Given the description of an element on the screen output the (x, y) to click on. 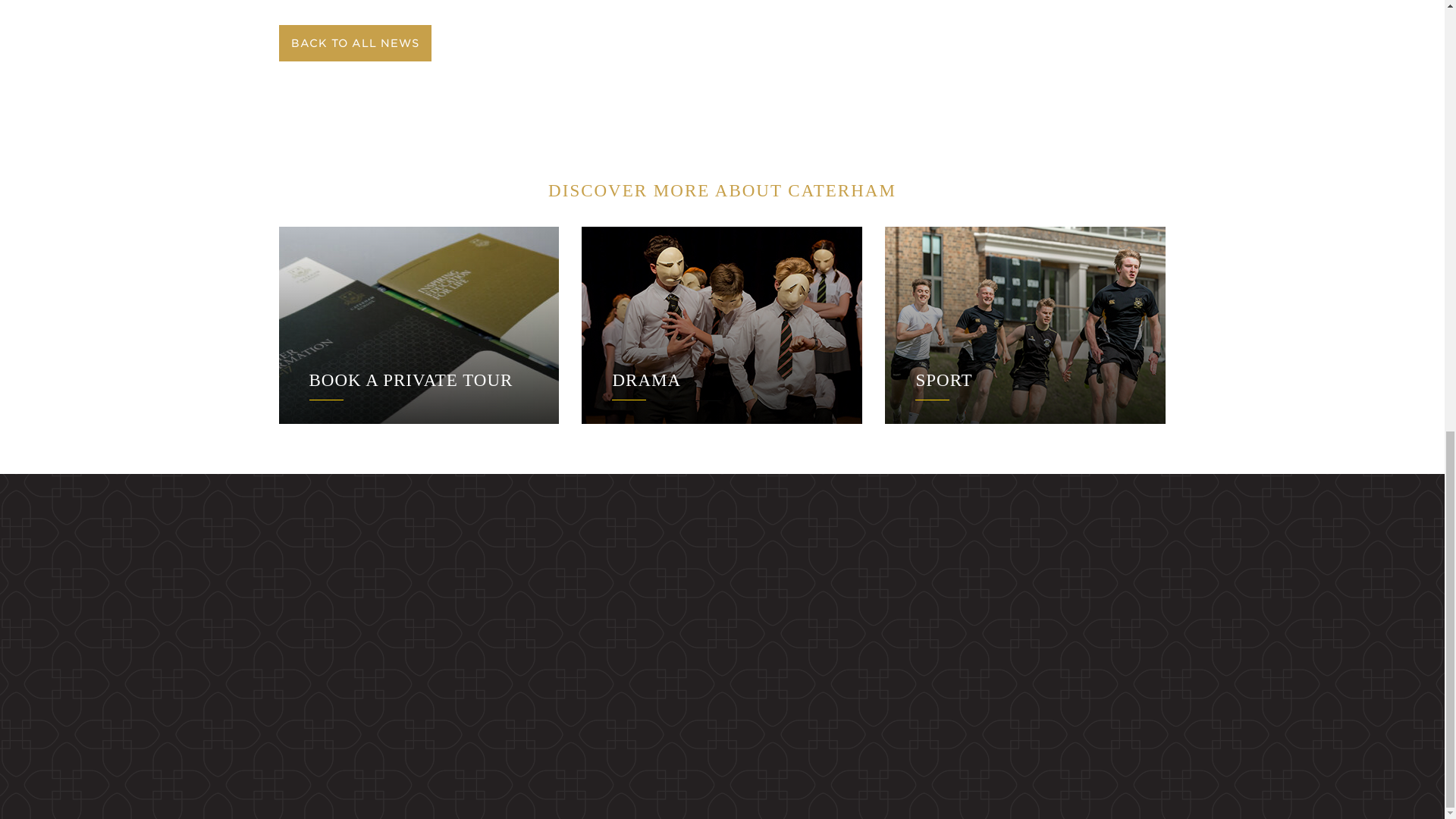
BACK TO ALL NEWS (353, 43)
